Given the description of an element on the screen output the (x, y) to click on. 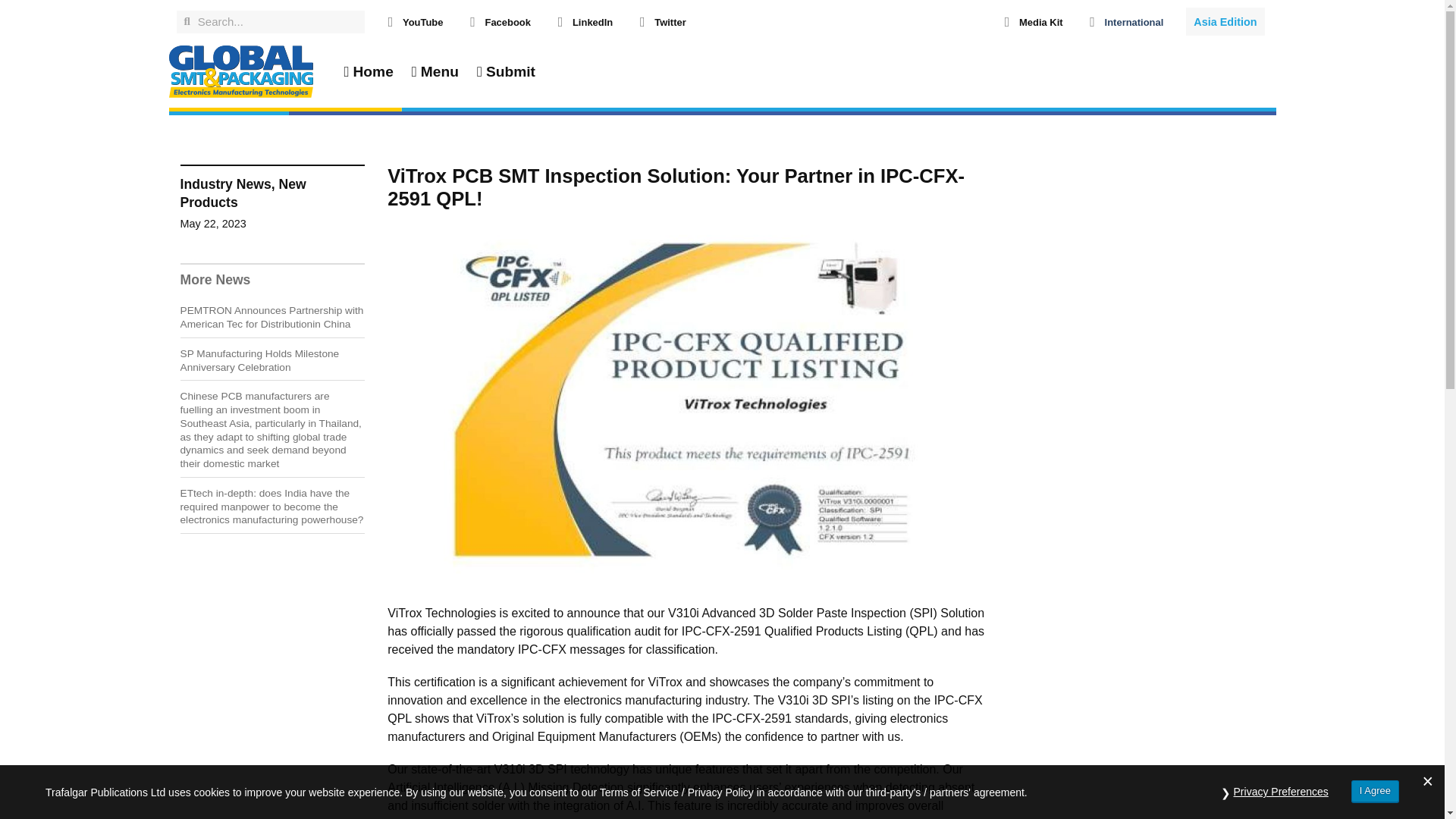
SP Manufacturing Holds Milestone Anniversary Celebration (259, 360)
Privacy Preferences (1280, 791)
I Agree (1375, 791)
Twitter (669, 21)
Menu (435, 71)
Media Kit (1040, 21)
YouTube (422, 21)
Facebook (506, 21)
International (1134, 21)
Industry News (225, 183)
Submit (505, 71)
New Products (242, 192)
LinkedIn (592, 21)
